Given the description of an element on the screen output the (x, y) to click on. 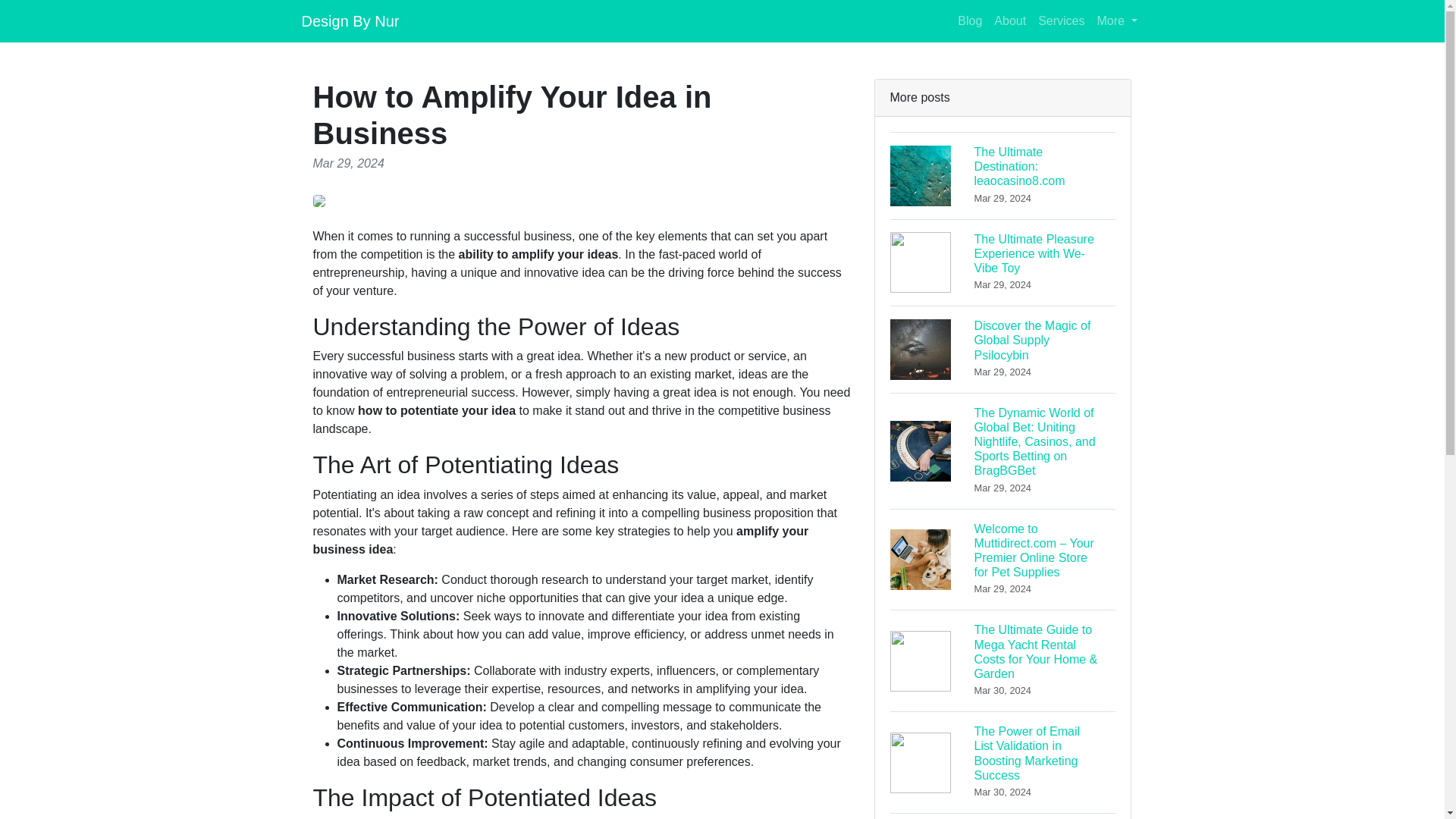
More (1116, 20)
Design By Nur (349, 20)
Services (1061, 20)
Blog (1002, 349)
About (970, 20)
